Given the description of an element on the screen output the (x, y) to click on. 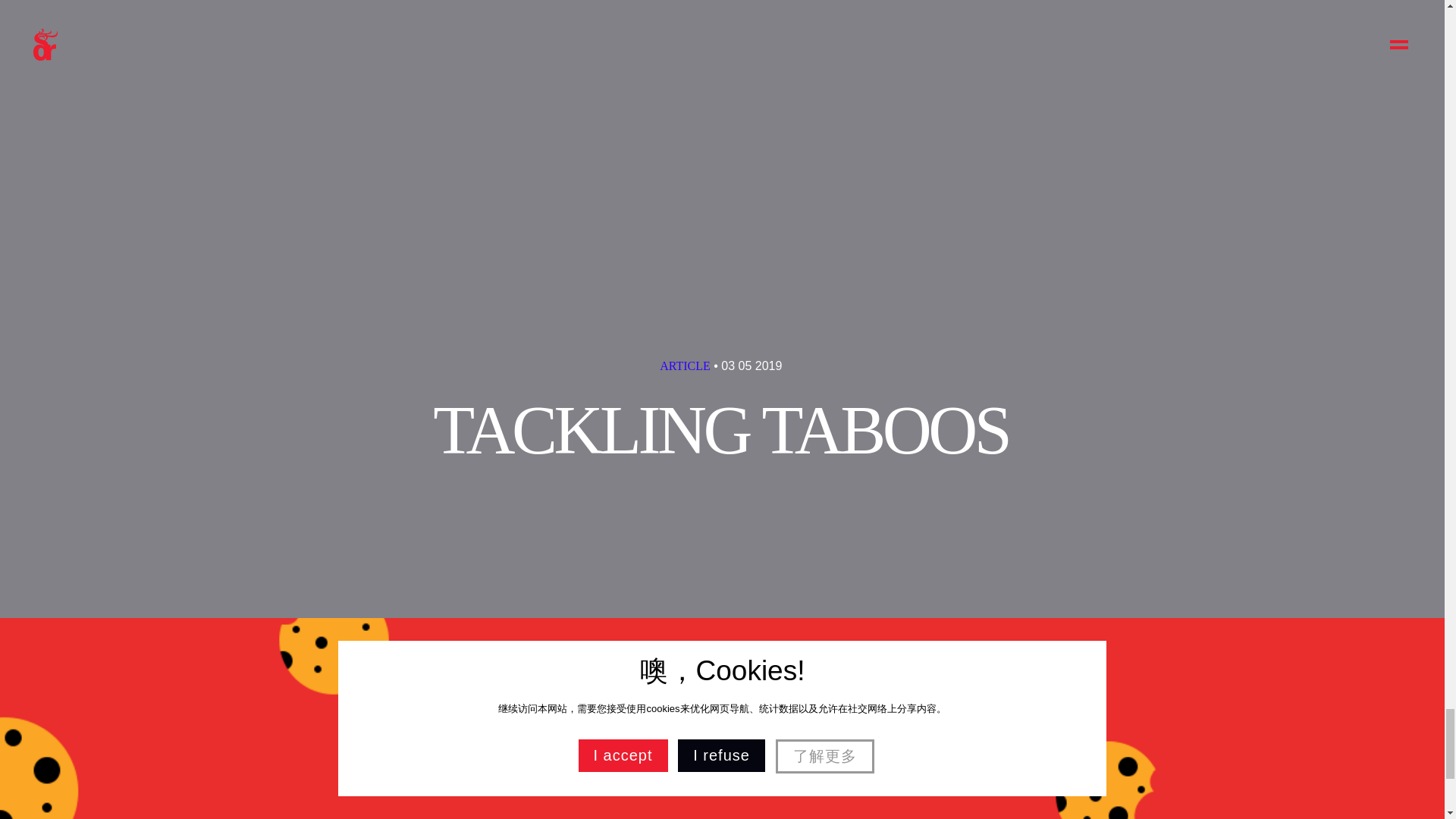
send an email (880, 358)
send an email (564, 358)
send an email (248, 358)
